Given the description of an element on the screen output the (x, y) to click on. 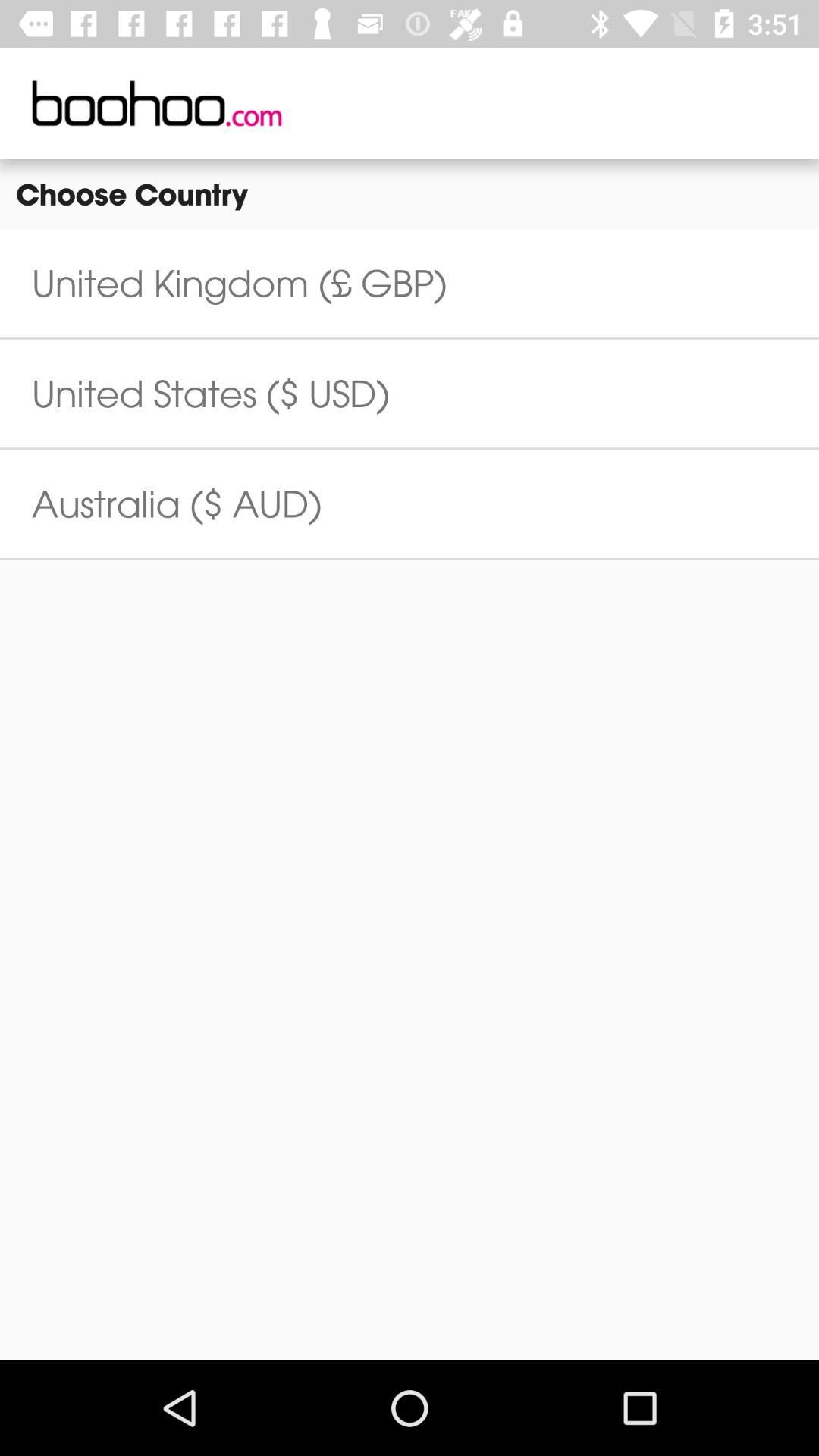
turn on the icon above australia ($ aud) item (210, 393)
